Given the description of an element on the screen output the (x, y) to click on. 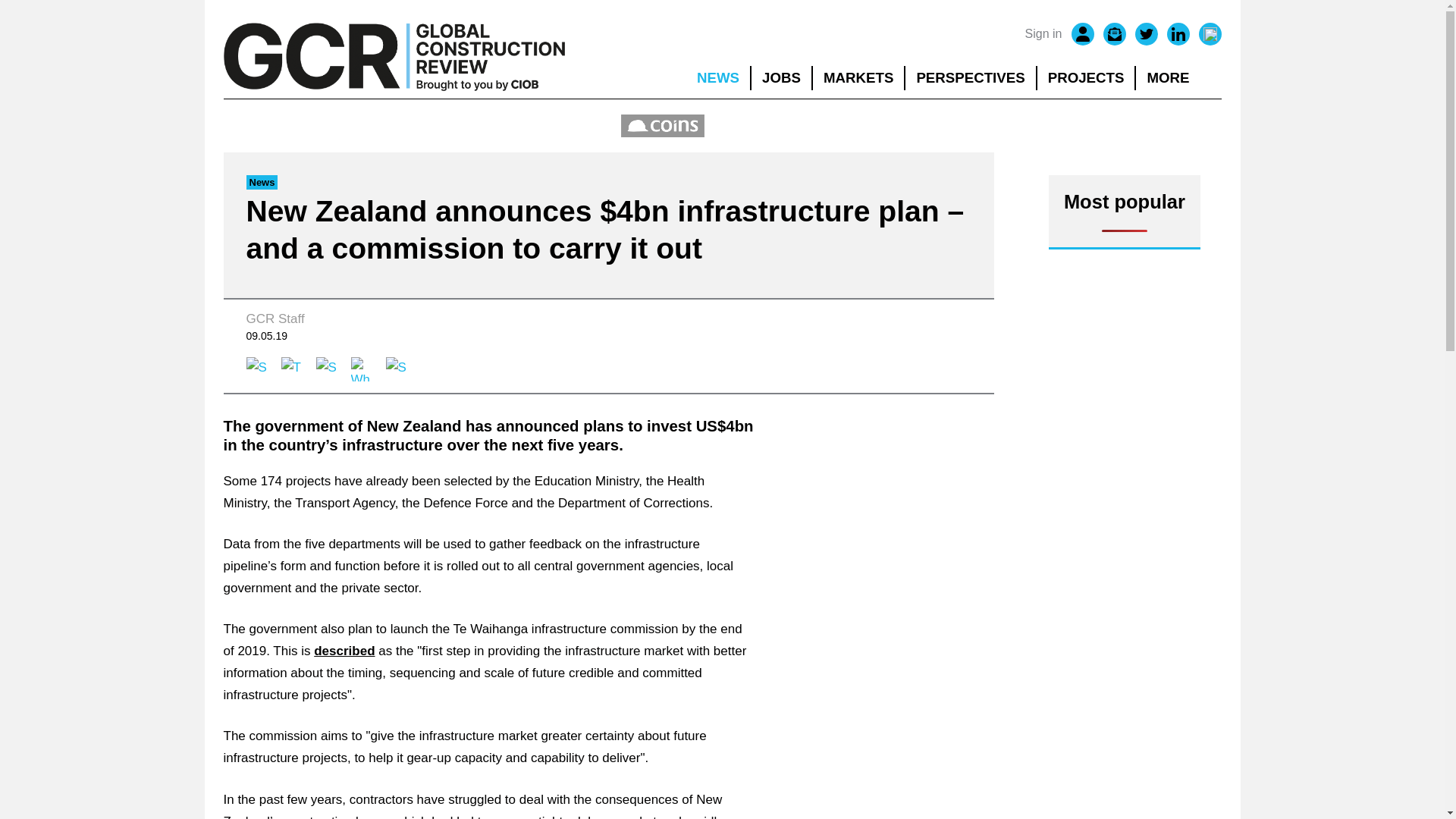
PERSPECTIVES (970, 78)
PROJECTS (1085, 78)
Share on LinkedIn (327, 369)
MORE (1178, 78)
Share on WhatsApp (362, 369)
Tweet (292, 369)
MARKETS (858, 78)
Sign in (1043, 34)
NEWS (717, 78)
Share on Facebook (257, 369)
